Given the description of an element on the screen output the (x, y) to click on. 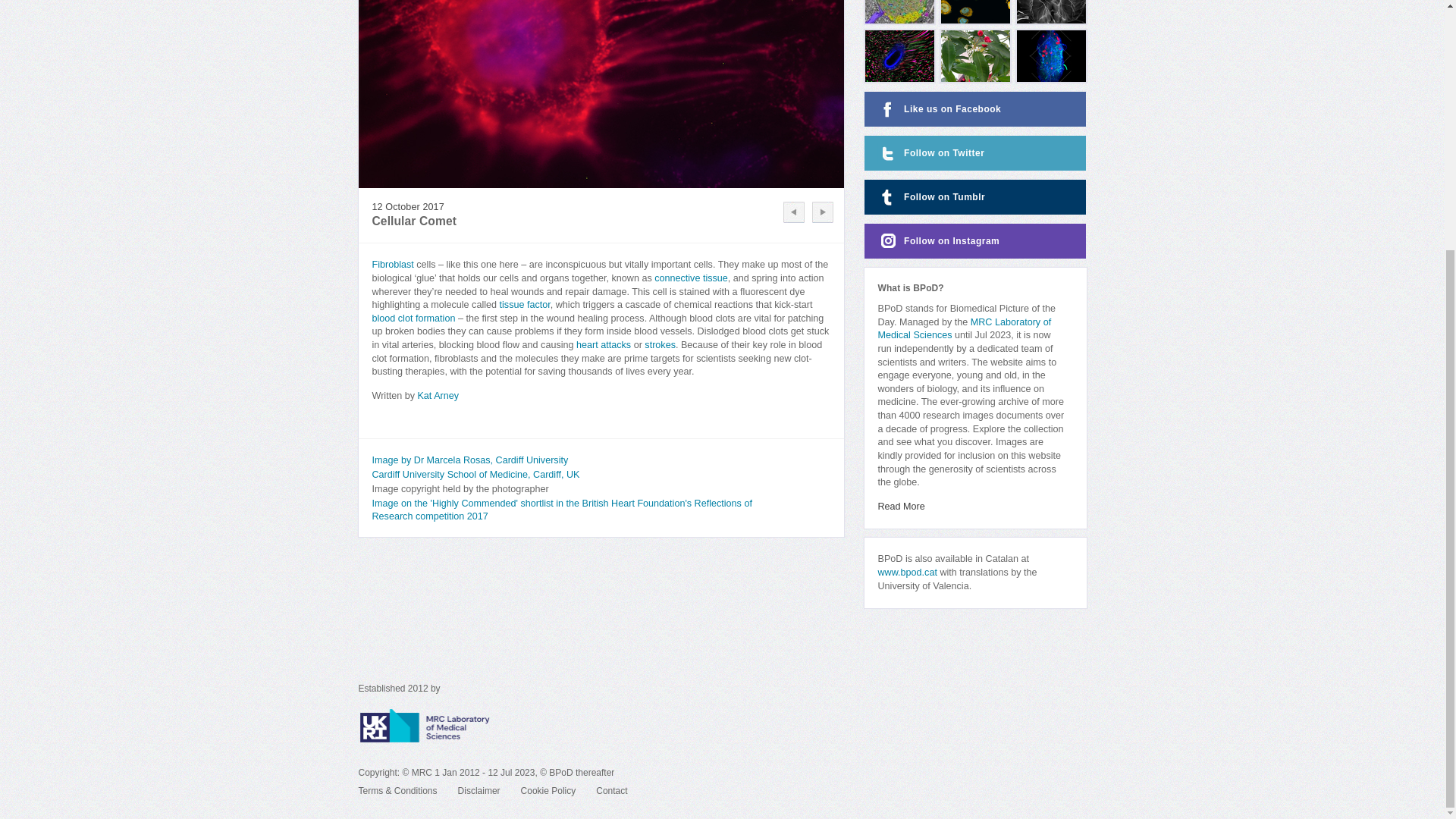
Fibroblast (392, 264)
Follow on Twitter (975, 152)
About this author (437, 395)
Cardiff University School of Medicine, Cardiff, UK (475, 474)
blood clot formation (412, 317)
Image by Dr Marcela Rosas, Cardiff University (469, 460)
strokes (660, 344)
heart attacks (603, 344)
Like us on Facebook (975, 108)
tissue factor (524, 304)
Follow BPoD on Facebook (975, 108)
Follow on Tumblr (975, 196)
Cardiff University School of Medicine, Cardiff, UK (475, 474)
